Given the description of an element on the screen output the (x, y) to click on. 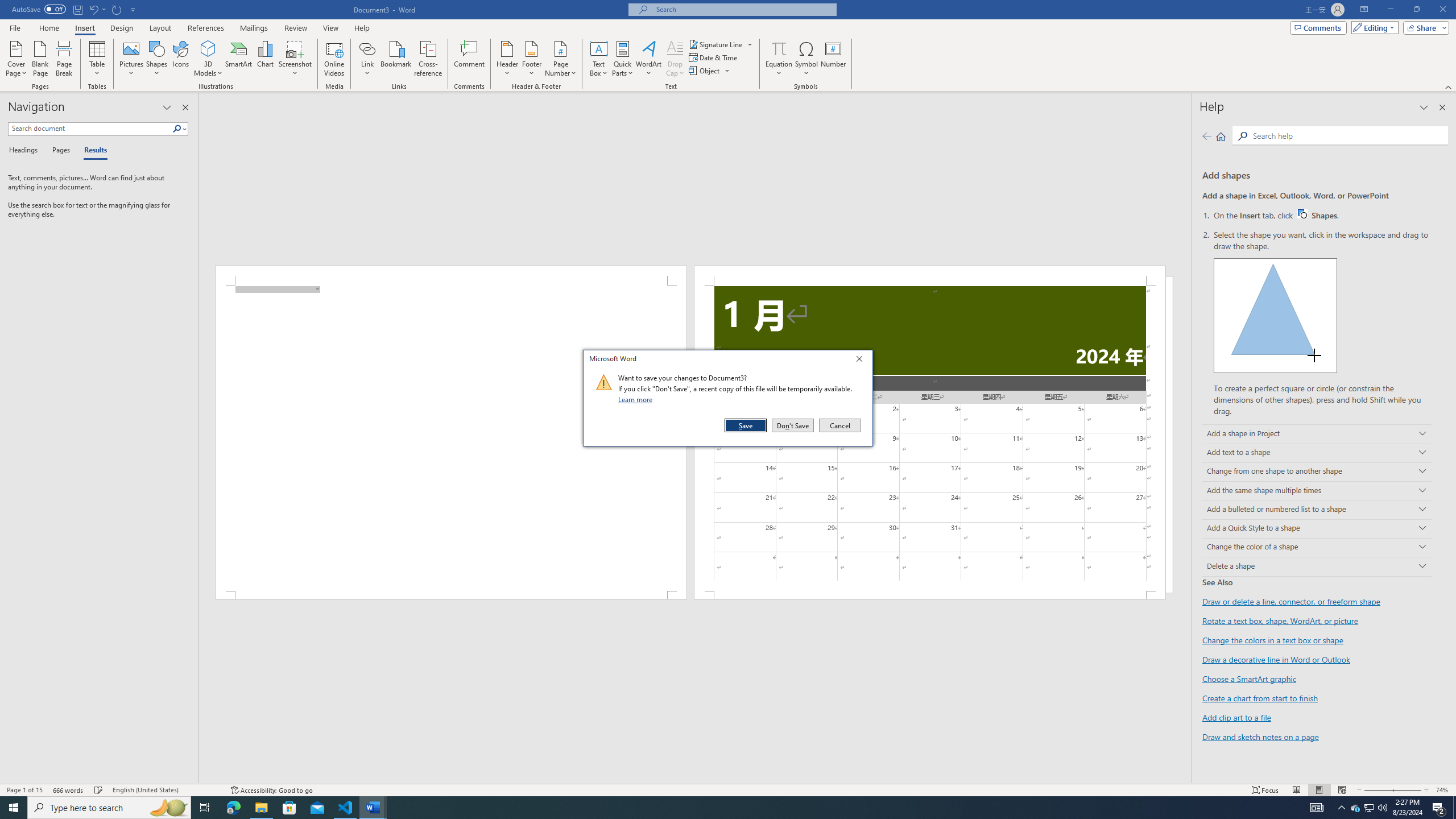
Page Number (560, 58)
Page Number Page 1 of 15 (24, 790)
Change the colors in a text box or shape (1322, 214)
Header (1272, 639)
Add the same shape multiple times (507, 58)
Results (1316, 490)
Zoom In (91, 150)
Screenshot (1403, 790)
Object... (295, 58)
Cross-reference... (709, 69)
Draw and sketch notes on a page (428, 58)
Layout (1260, 736)
Cancel (160, 28)
Customize Quick Access Toolbar (839, 425)
